Given the description of an element on the screen output the (x, y) to click on. 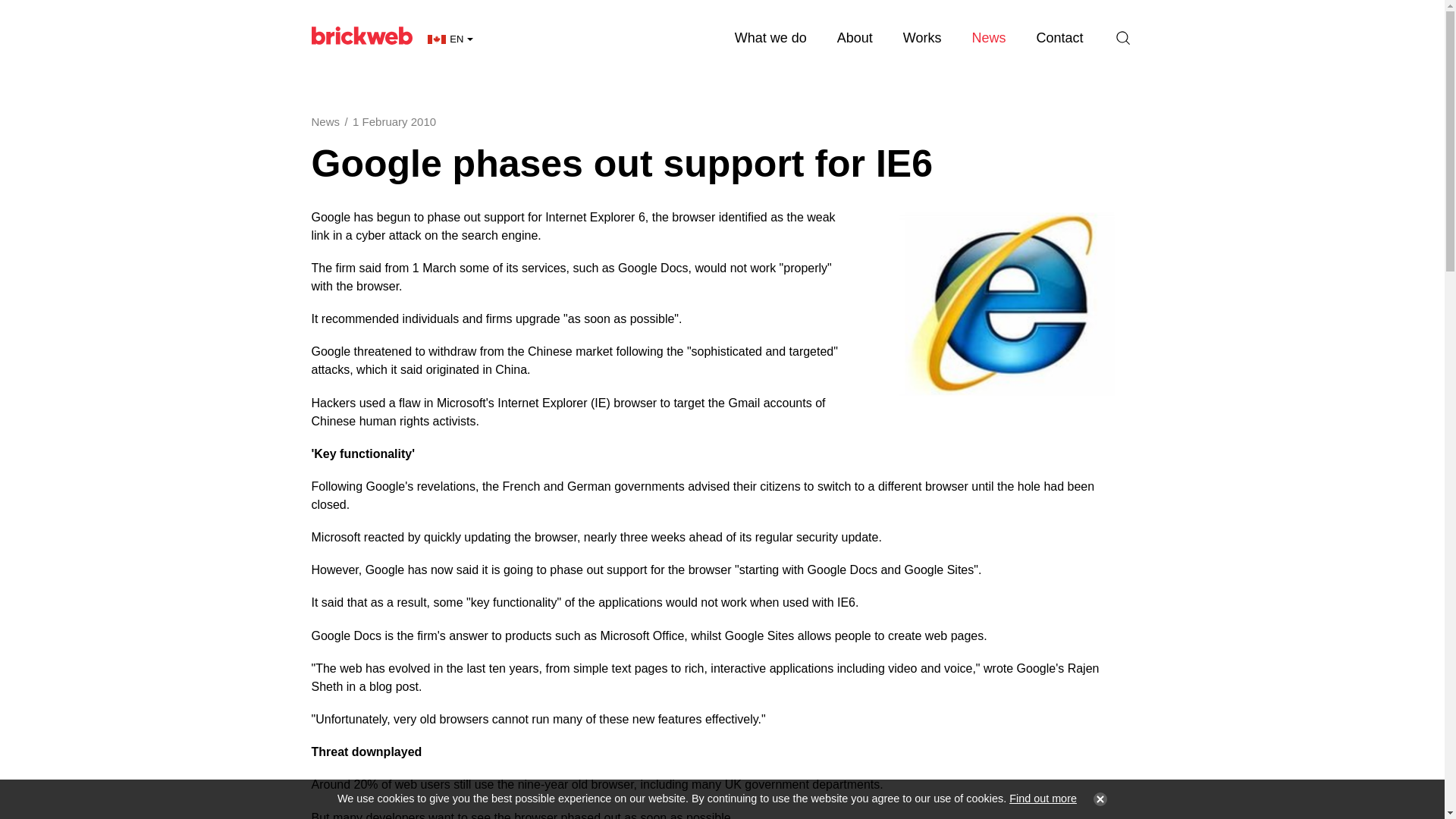
Works (922, 37)
EN (450, 39)
Contact (1058, 37)
About (855, 37)
News (988, 37)
1 February 2010 (393, 121)
News (325, 121)
ie (1010, 306)
What we do (770, 37)
Brick technology news (988, 37)
